Given the description of an element on the screen output the (x, y) to click on. 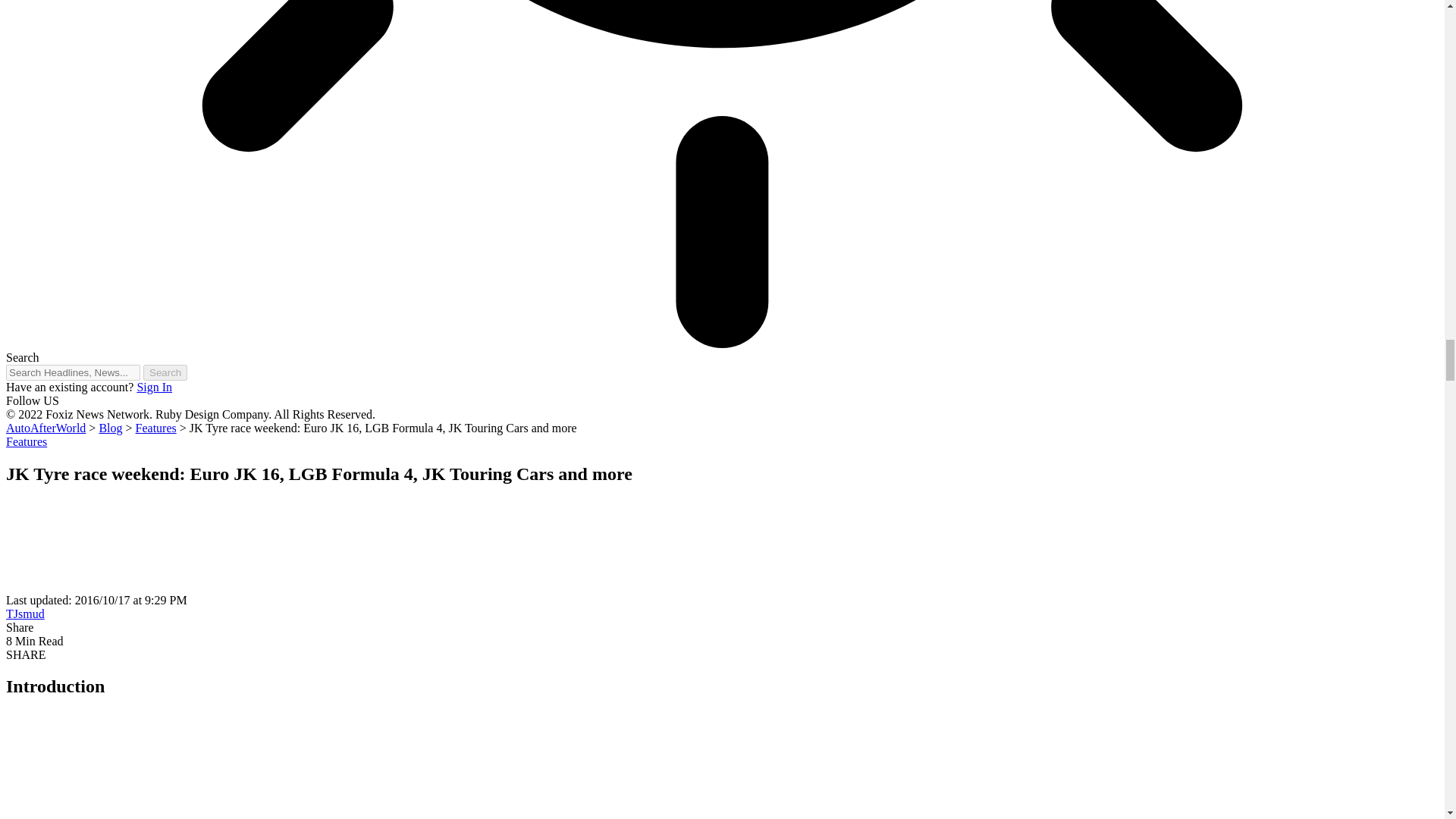
Go to AutoAfterWorld. (45, 427)
Sign In (153, 386)
Go to Blog. (110, 427)
Search (164, 372)
Search (164, 372)
Blog (110, 427)
AutoAfterWorld (45, 427)
Go to the Features Category archives. (155, 427)
